Given the description of an element on the screen output the (x, y) to click on. 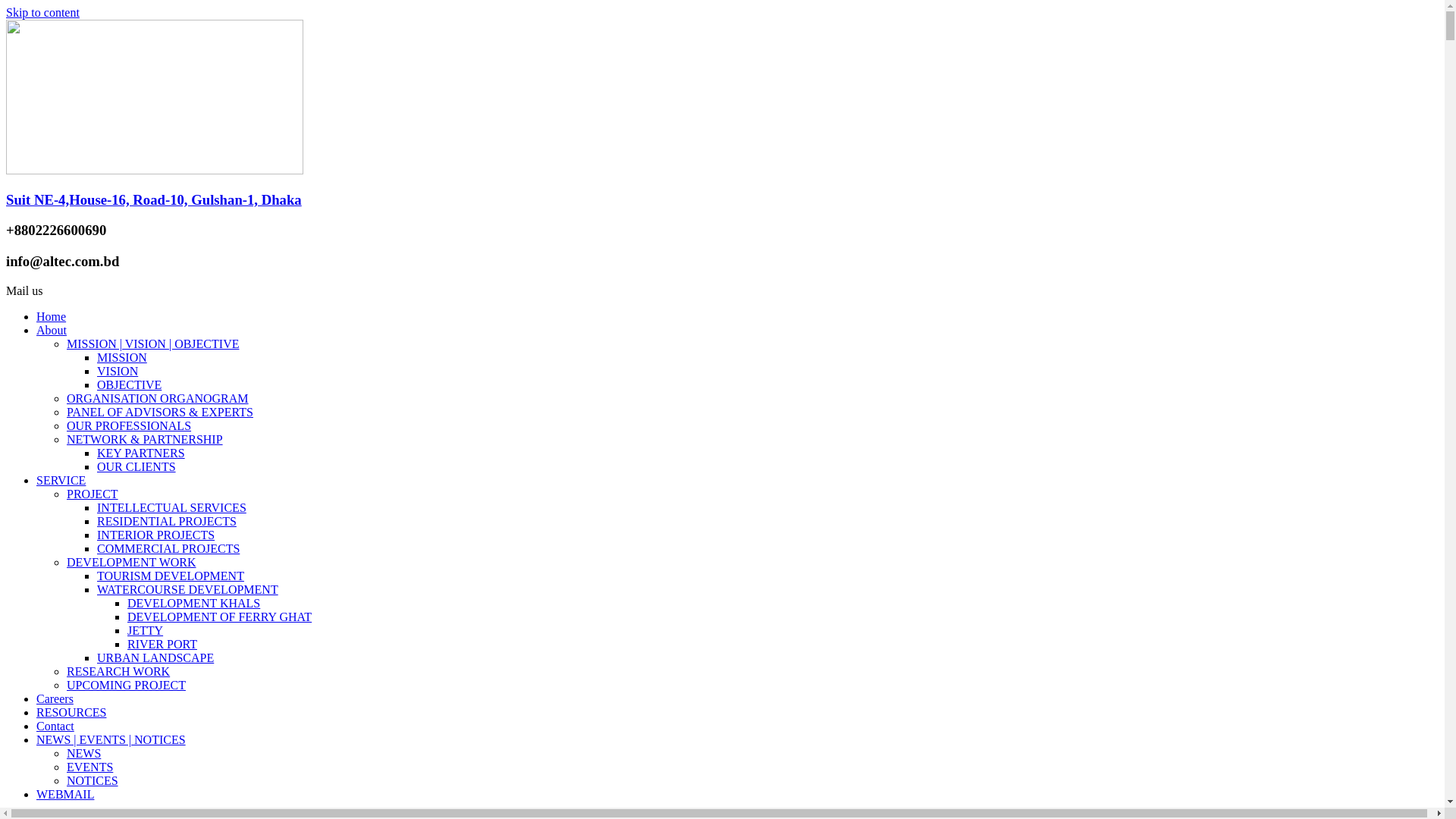
OUR PROFESSIONALS Element type: text (128, 425)
DEVELOPMENT WORK Element type: text (131, 561)
MISSION | VISION | OBJECTIVE Element type: text (152, 343)
RESEARCH WORK Element type: text (117, 671)
WEBMAIL Element type: text (65, 793)
RESIDENTIAL PROJECTS Element type: text (166, 520)
EVENTS Element type: text (89, 766)
Skip to content Element type: text (42, 12)
UPCOMING PROJECT Element type: text (125, 684)
Home Element type: text (50, 316)
Contact Element type: text (55, 725)
Careers Element type: text (54, 698)
KEY PARTNERS Element type: text (141, 452)
DEVELOPMENT KHALS Element type: text (193, 602)
NETWORK & PARTNERSHIP Element type: text (144, 439)
OUR CLIENTS Element type: text (136, 466)
PROJECT Element type: text (92, 493)
RESOURCES Element type: text (71, 712)
About Element type: text (51, 329)
MISSION Element type: text (122, 357)
JETTY Element type: text (145, 630)
OBJECTIVE Element type: text (129, 384)
INTELLECTUAL SERVICES Element type: text (171, 507)
INTERIOR PROJECTS Element type: text (155, 534)
TOURISM DEVELOPMENT Element type: text (170, 575)
ORGANISATION ORGANOGRAM Element type: text (157, 398)
COMMERCIAL PROJECTS Element type: text (168, 548)
DEVELOPMENT OF FERRY GHAT Element type: text (219, 616)
RIVER PORT Element type: text (162, 643)
NEWS | EVENTS | NOTICES Element type: text (110, 739)
URBAN LANDSCAPE Element type: text (155, 657)
VISION Element type: text (117, 370)
SERVICE Element type: text (60, 479)
WATERCOURSE DEVELOPMENT Element type: text (187, 589)
PANEL OF ADVISORS & EXPERTS Element type: text (159, 411)
NEWS Element type: text (83, 752)
Suit NE-4,House-16, Road-10, Gulshan-1, Dhaka Element type: text (153, 199)
NOTICES Element type: text (92, 780)
